Given the description of an element on the screen output the (x, y) to click on. 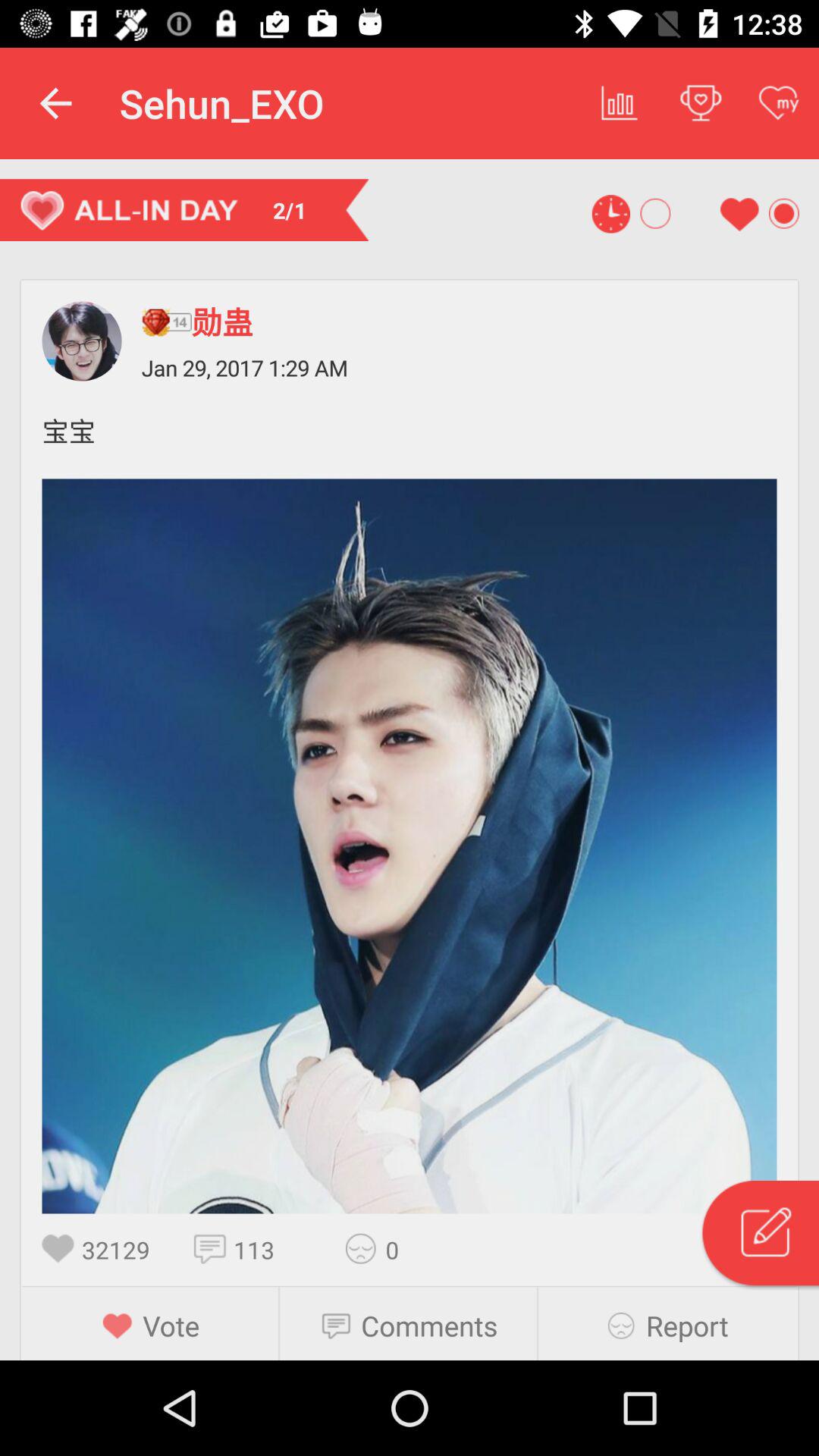
share the article (365, 1248)
